Given the description of an element on the screen output the (x, y) to click on. 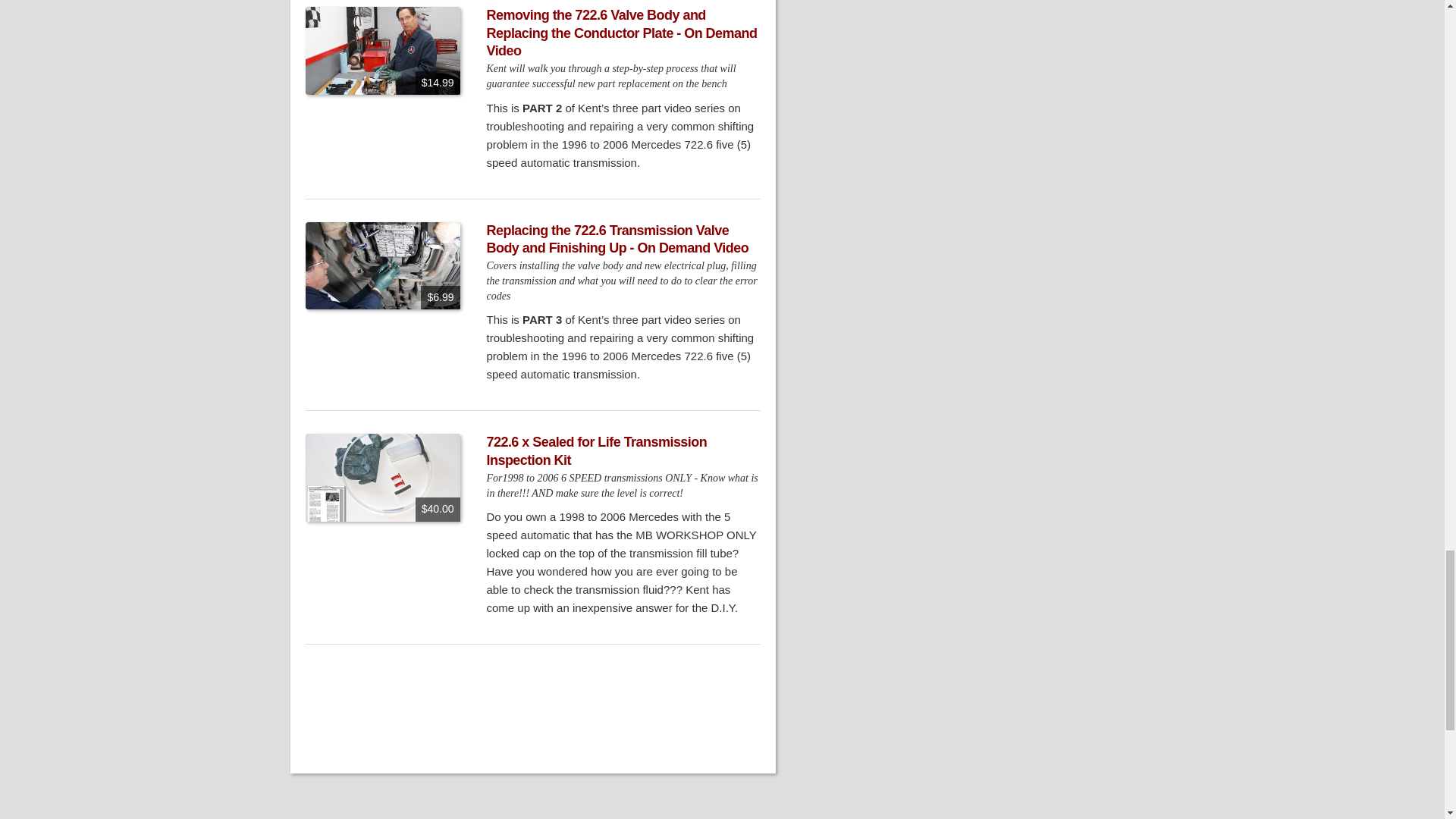
722.6 x Sealed for Life Transmission Inspection Kit (596, 450)
